Given the description of an element on the screen output the (x, y) to click on. 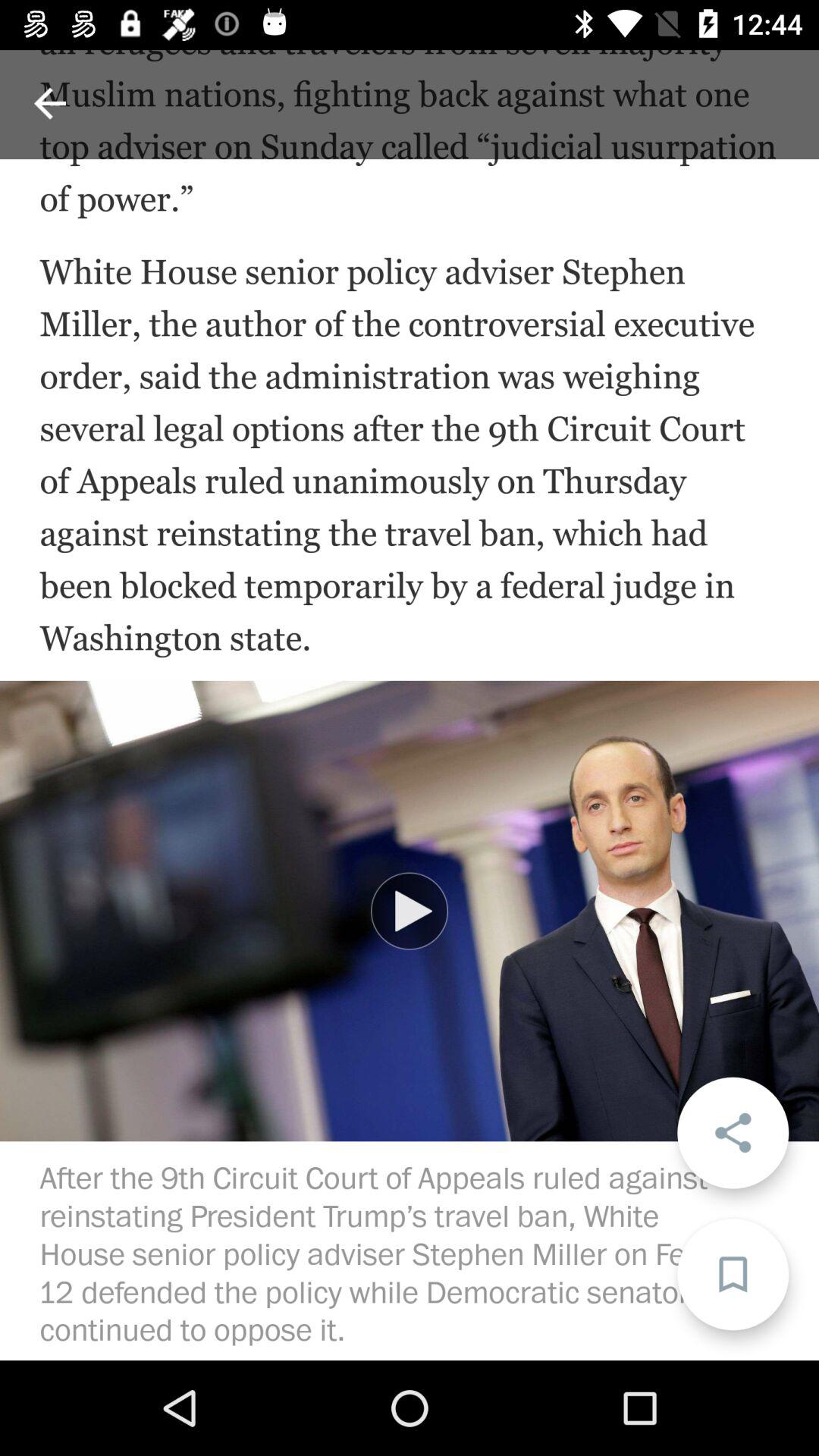
back (49, 103)
